Given the description of an element on the screen output the (x, y) to click on. 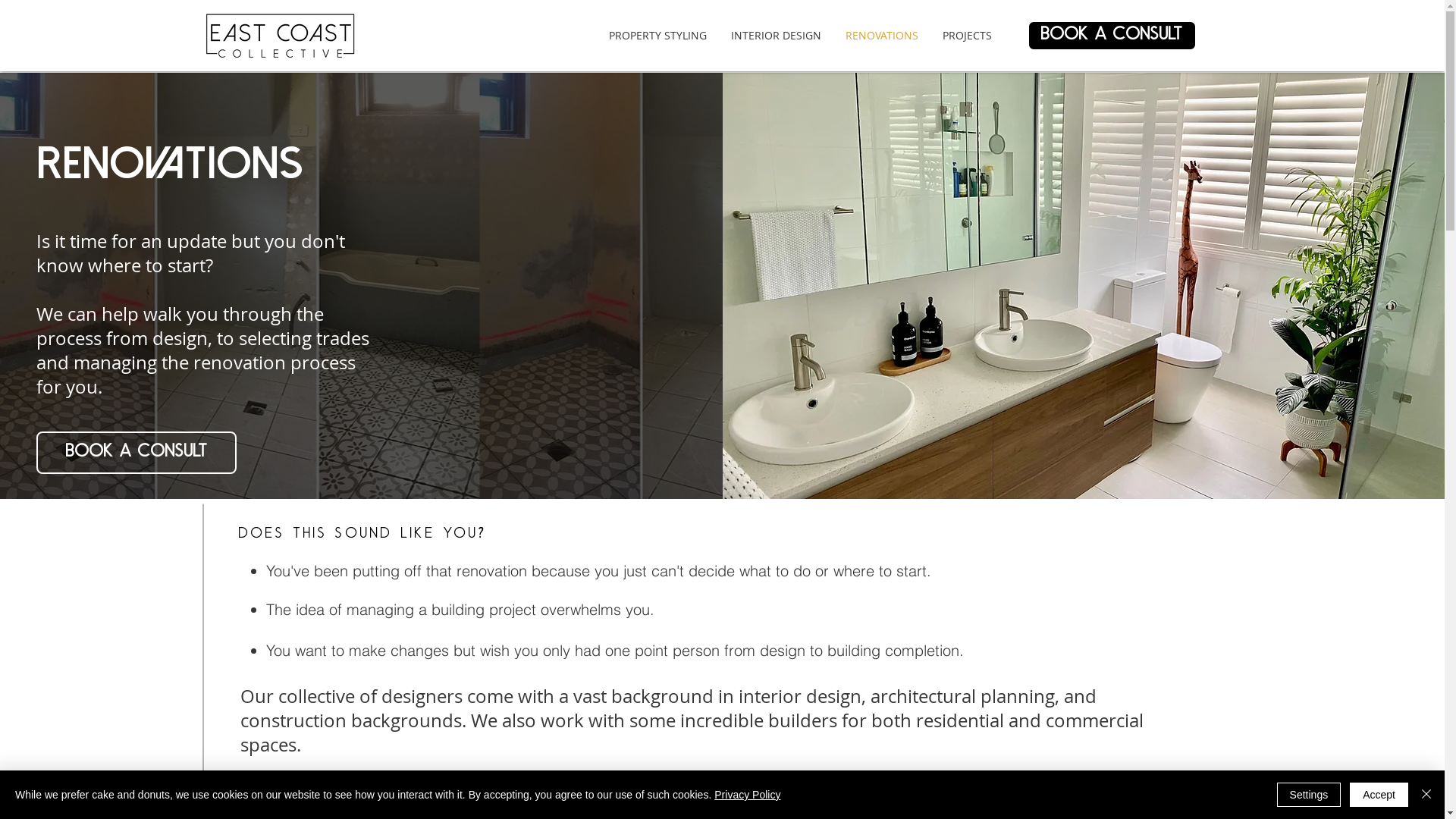
BOOK A CONSULT Element type: text (1110, 35)
BOOK A CONSULT Element type: text (136, 452)
RENOVATIONS Element type: text (880, 35)
Accept Element type: text (1378, 794)
Settings Element type: text (1309, 794)
PROPERTY STYLING Element type: text (657, 35)
PROJECTS Element type: text (966, 35)
Privacy Policy Element type: text (747, 794)
INTERIOR DESIGN Element type: text (775, 35)
